Given the description of an element on the screen output the (x, y) to click on. 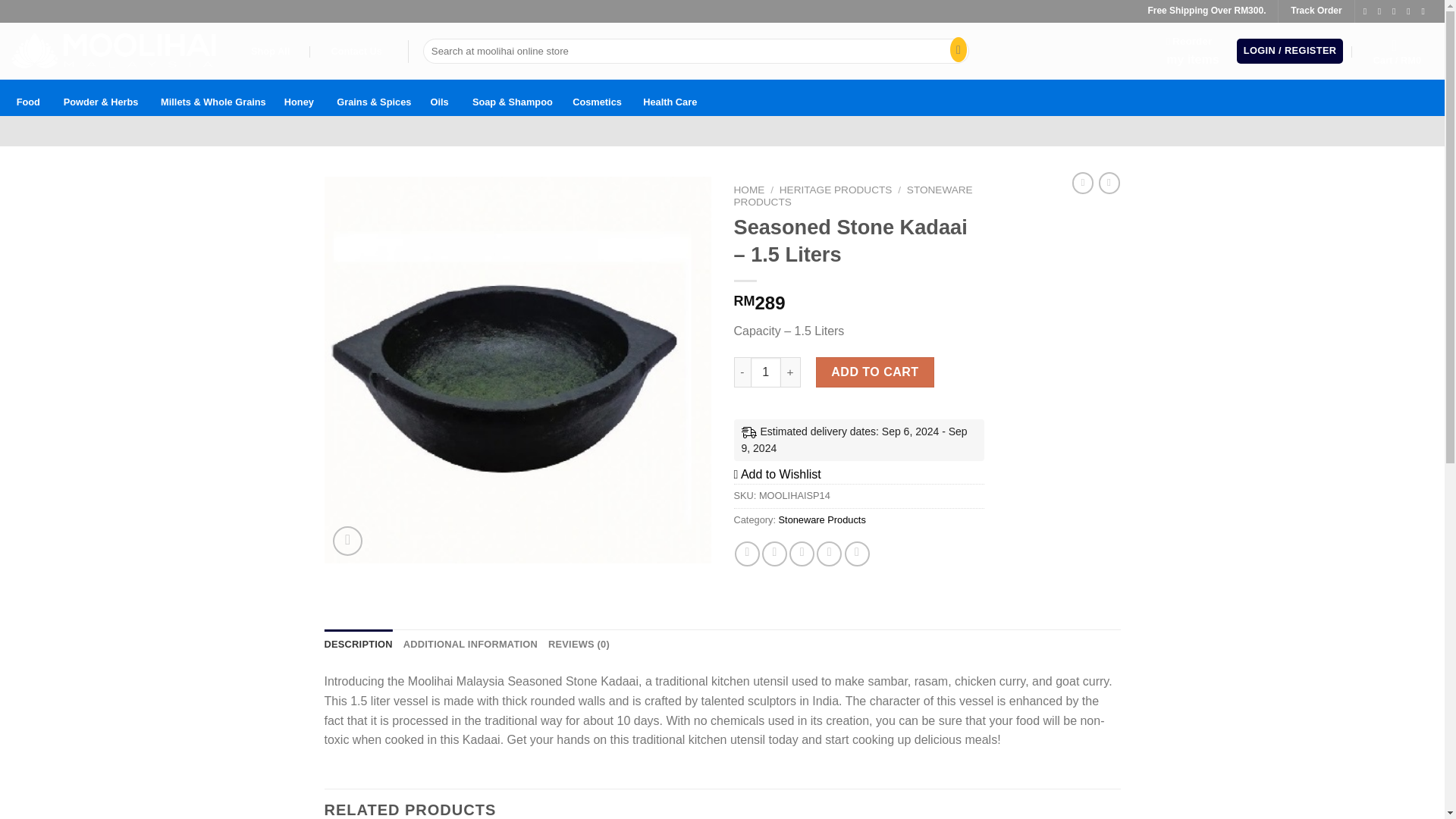
Shop All (269, 51)
Search (1192, 50)
HOME (955, 51)
Food (749, 189)
Honey (28, 97)
Health Care (298, 97)
Cart (670, 97)
Stoneware Products (1396, 51)
Zoom (822, 519)
